Given the description of an element on the screen output the (x, y) to click on. 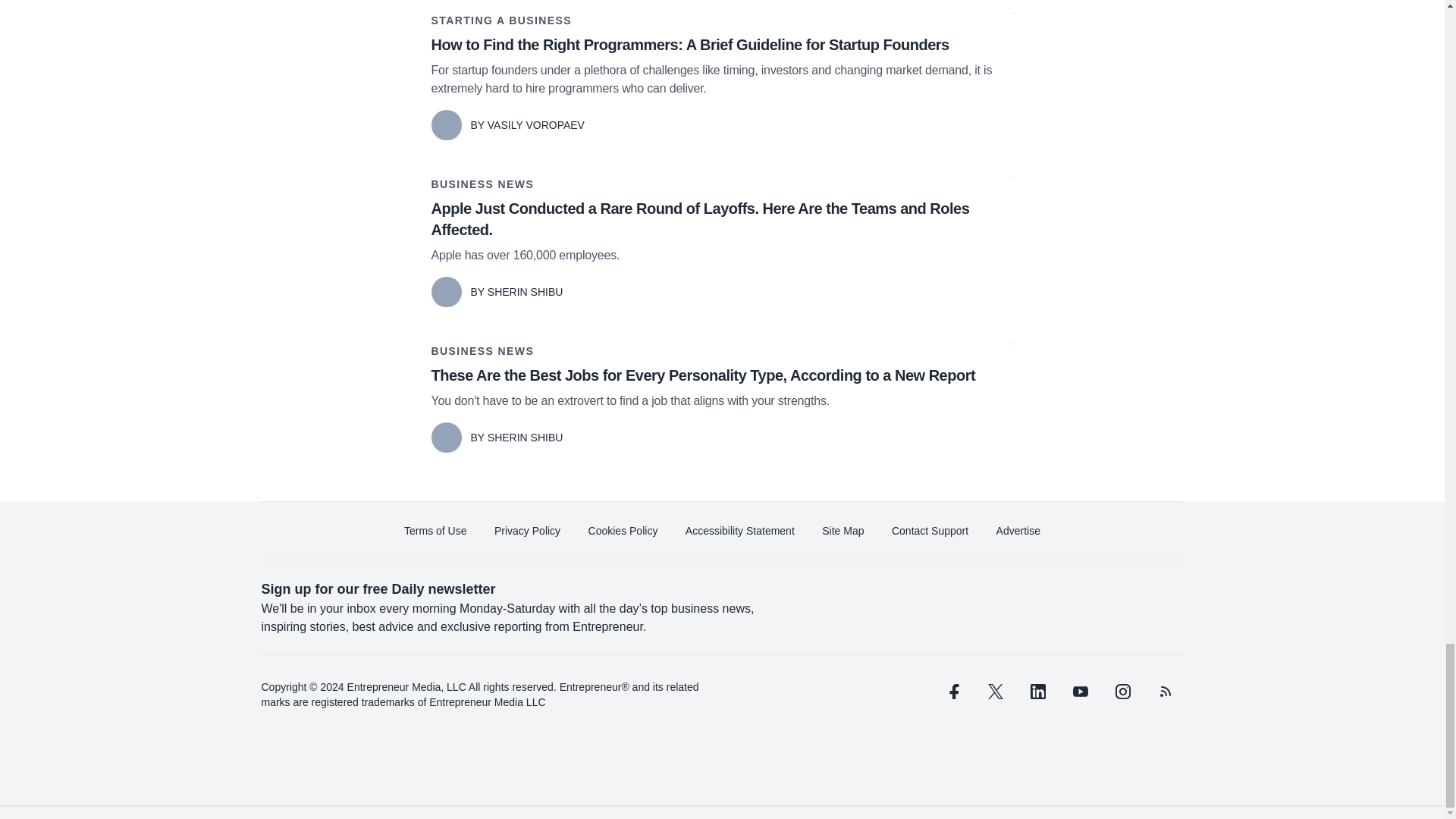
linkedin (1037, 691)
instagram (1121, 691)
youtube (1079, 691)
rss (1164, 691)
twitter (994, 691)
facebook (952, 691)
